Given the description of an element on the screen output the (x, y) to click on. 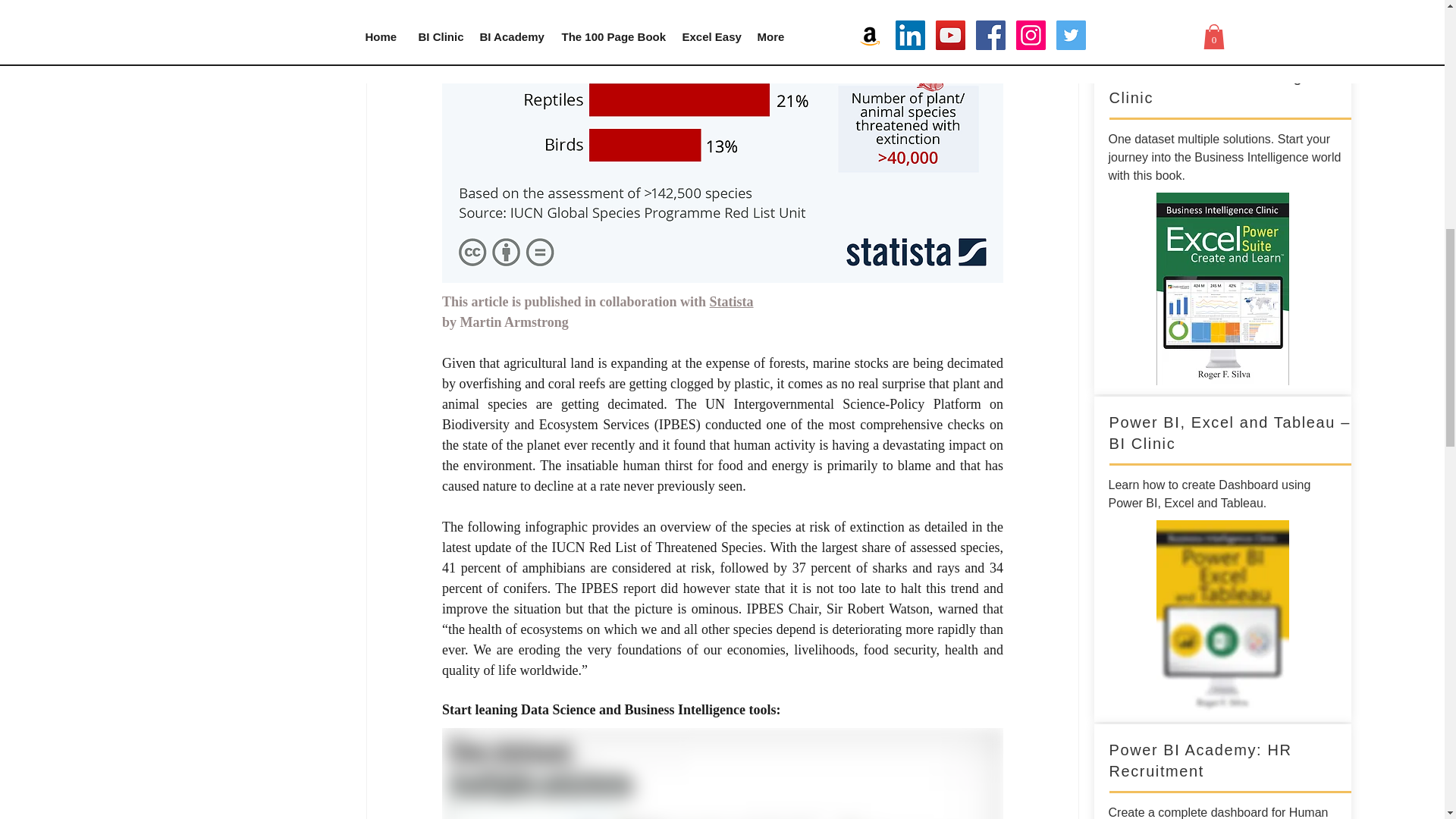
Statista (730, 301)
